Given the description of an element on the screen output the (x, y) to click on. 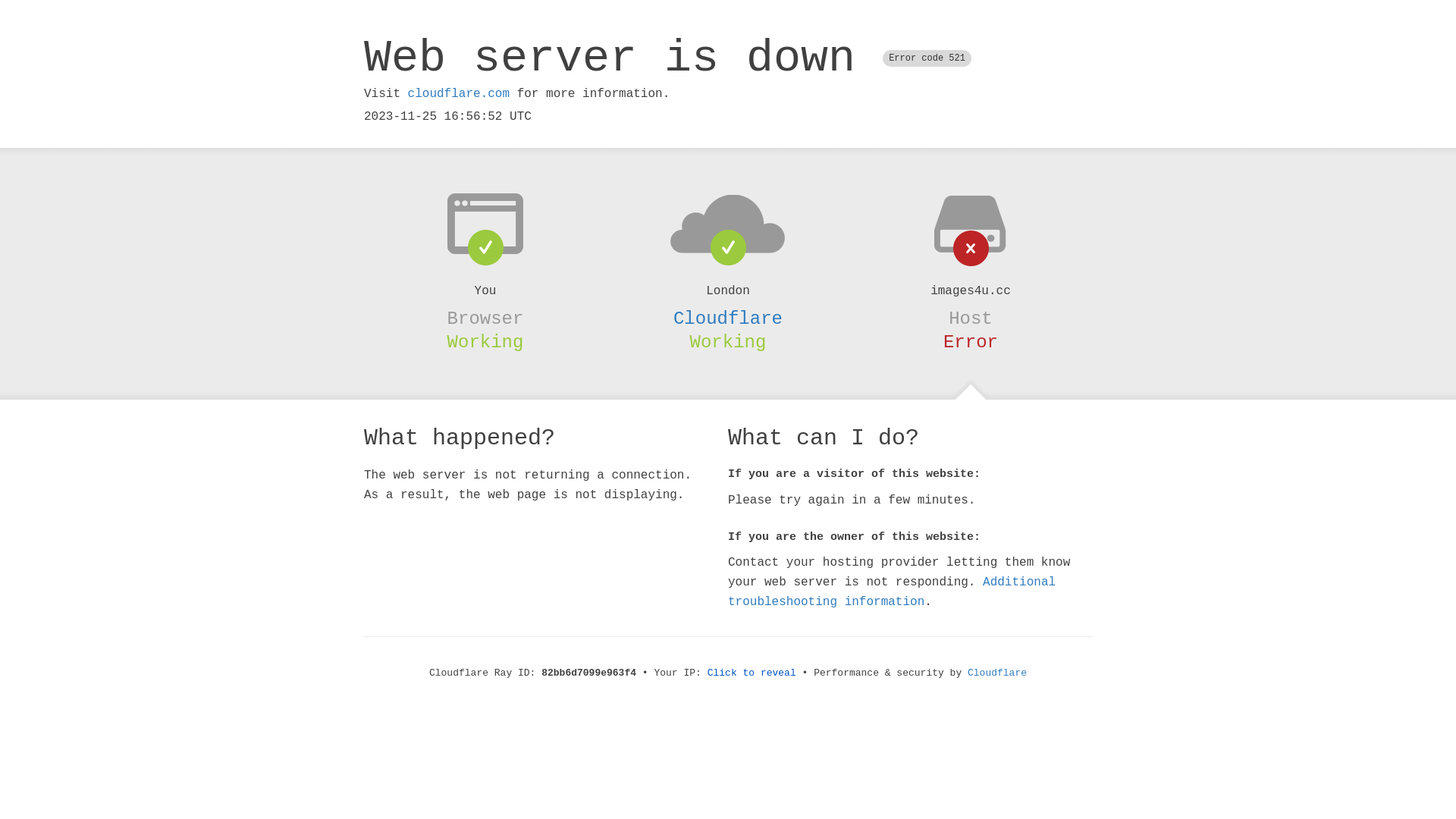
Cloudflare Element type: text (727, 318)
Additional troubleshooting information Element type: text (891, 591)
cloudflare.com Element type: text (458, 93)
Cloudflare Element type: text (996, 672)
Click to reveal Element type: text (751, 672)
